Given the description of an element on the screen output the (x, y) to click on. 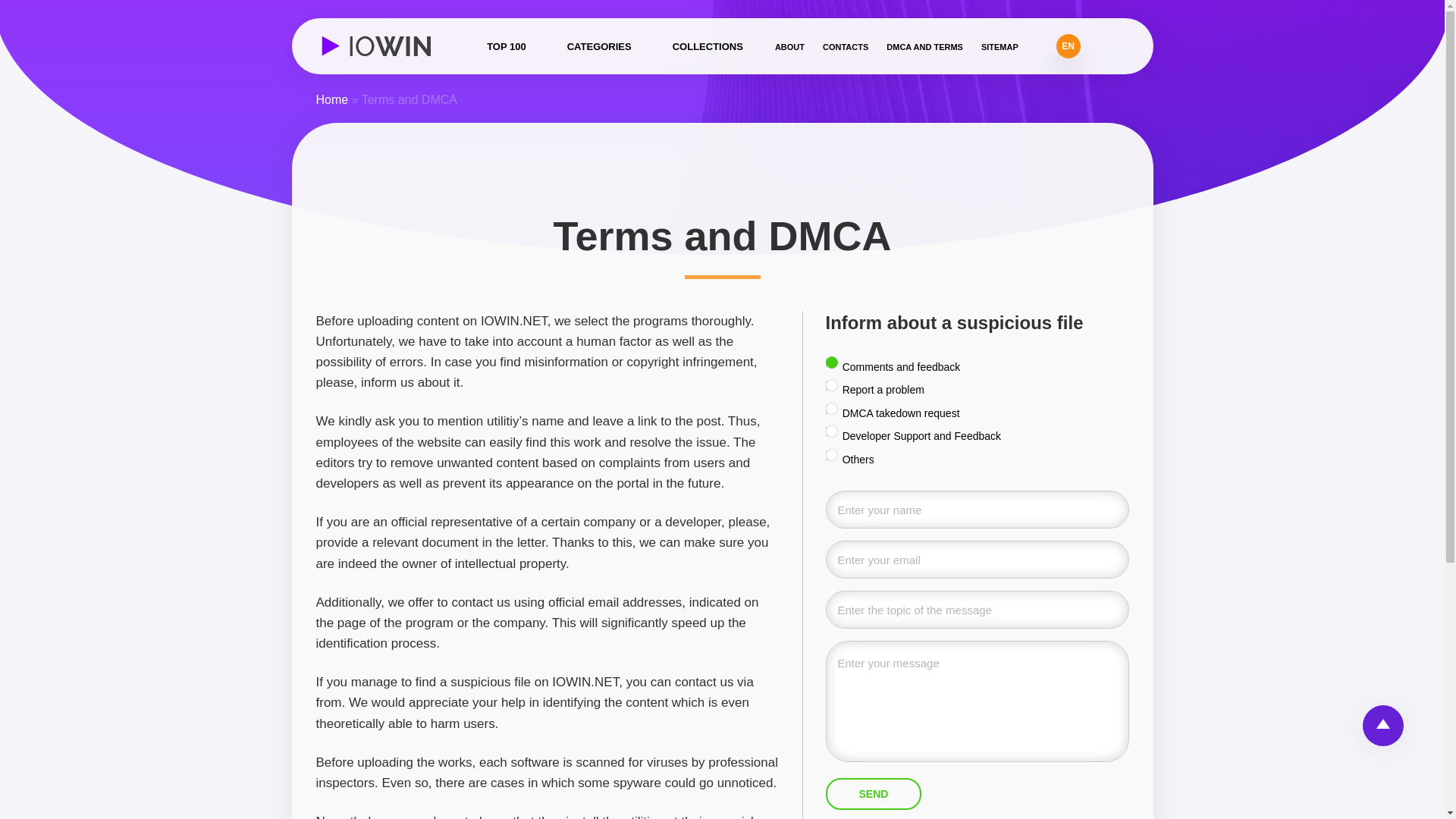
Others (829, 455)
COLLECTIONS (707, 46)
Report a problem (829, 385)
Home (331, 99)
DMCA AND TERMS (924, 46)
SEND (873, 793)
TOP 100 (505, 46)
Developer Support and Feedback (829, 431)
CATEGORIES (599, 46)
DMCA takedown request (829, 409)
CONTACTS (844, 46)
SITEMAP (999, 46)
ABOUT (789, 46)
Comments and feedback (829, 362)
